Given the description of an element on the screen output the (x, y) to click on. 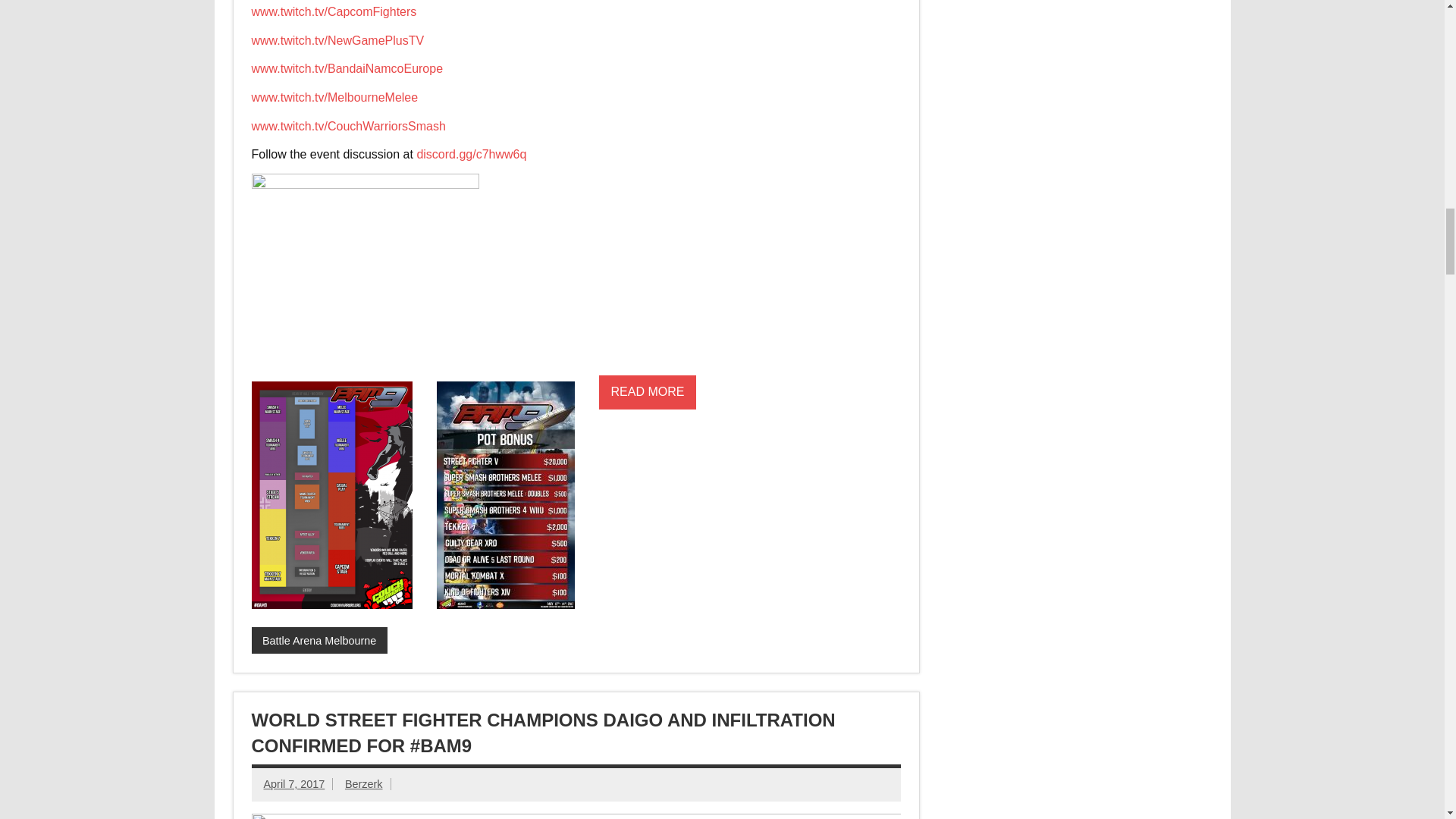
View all posts by Berzerk (363, 784)
1:07 pm (293, 784)
